Given the description of an element on the screen output the (x, y) to click on. 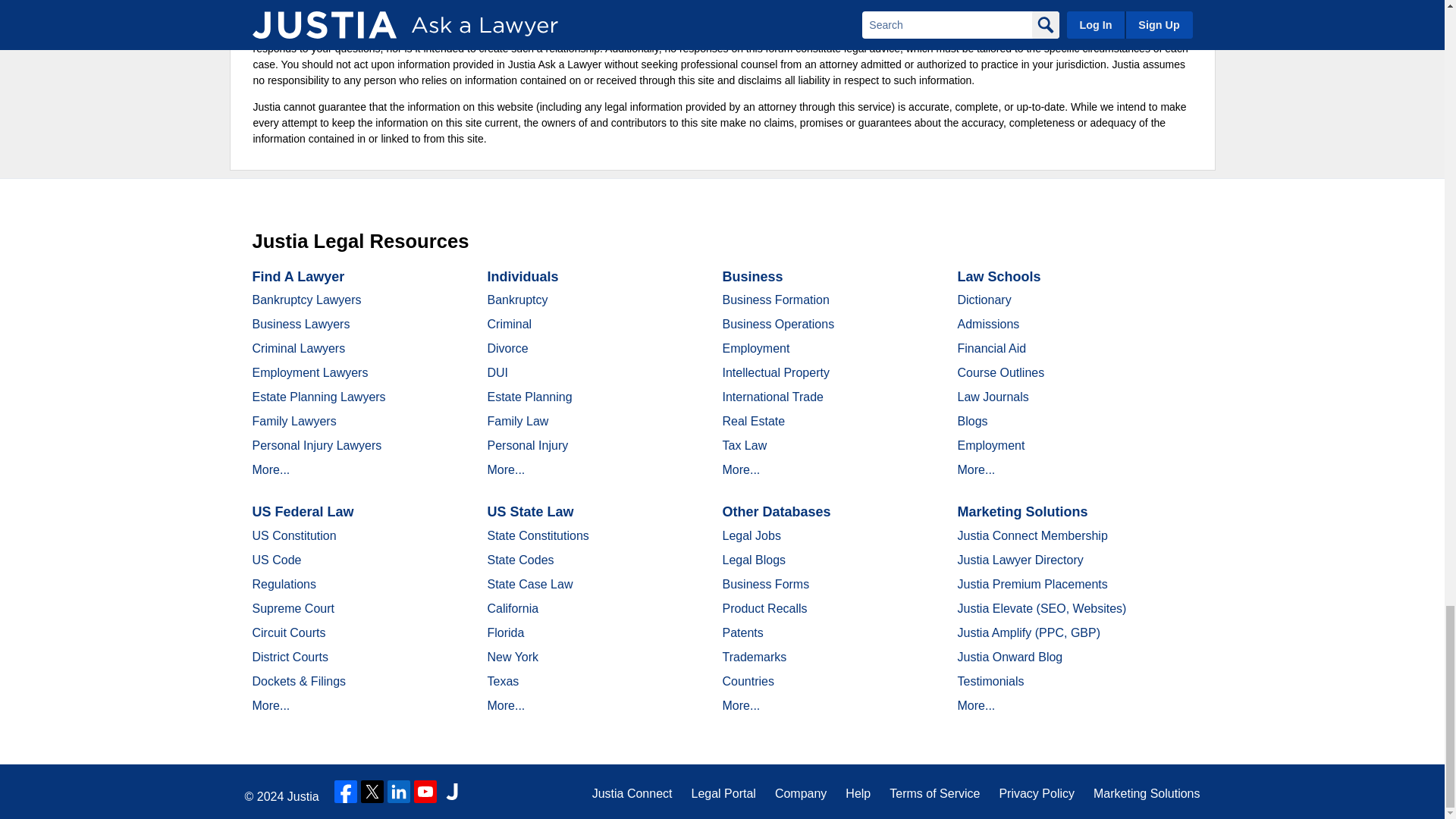
Twitter (372, 791)
LinkedIn (398, 791)
Facebook (345, 791)
